Given the description of an element on the screen output the (x, y) to click on. 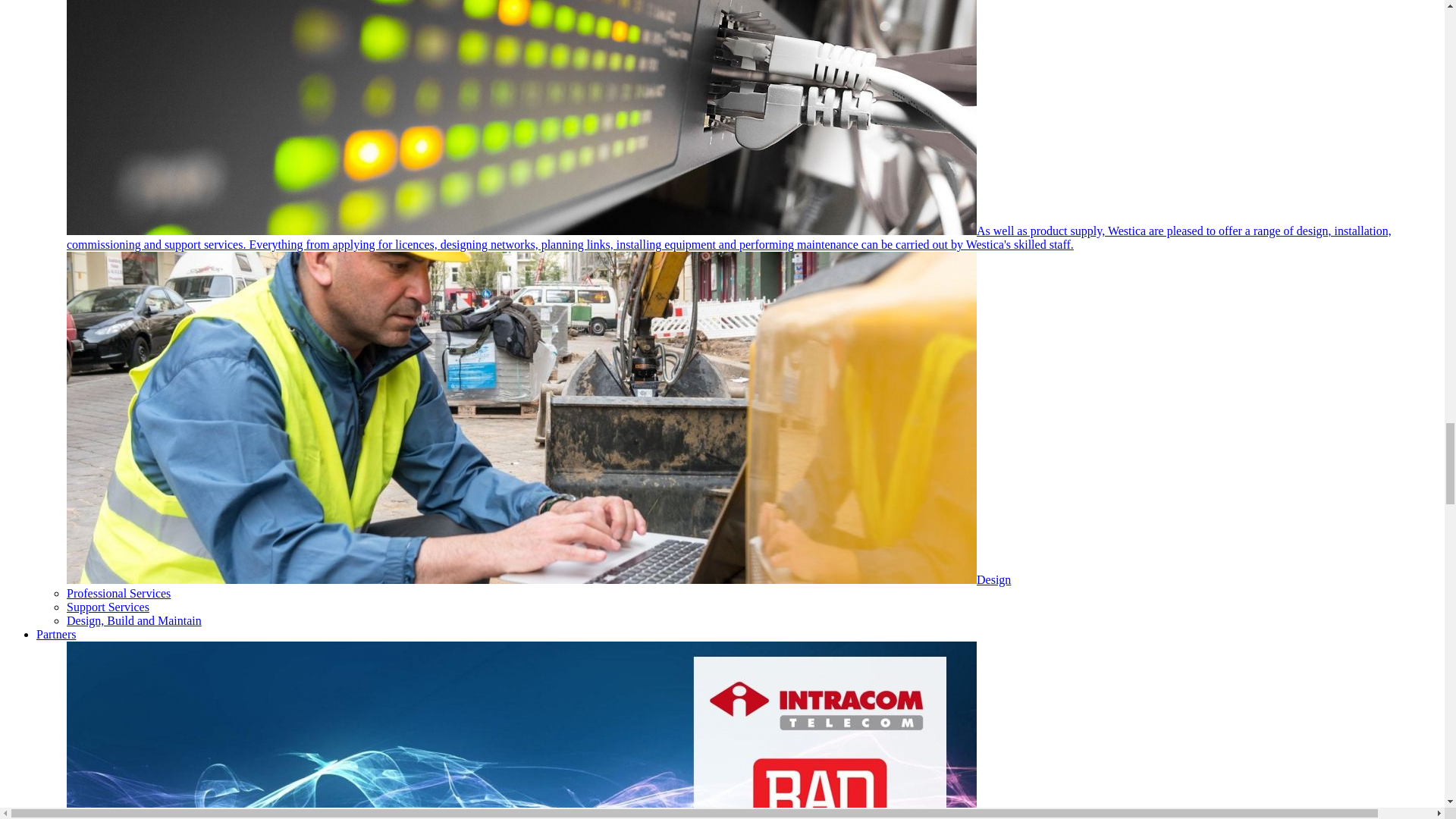
Professional Services (118, 593)
Support Services (107, 606)
Design (538, 579)
